Given the description of an element on the screen output the (x, y) to click on. 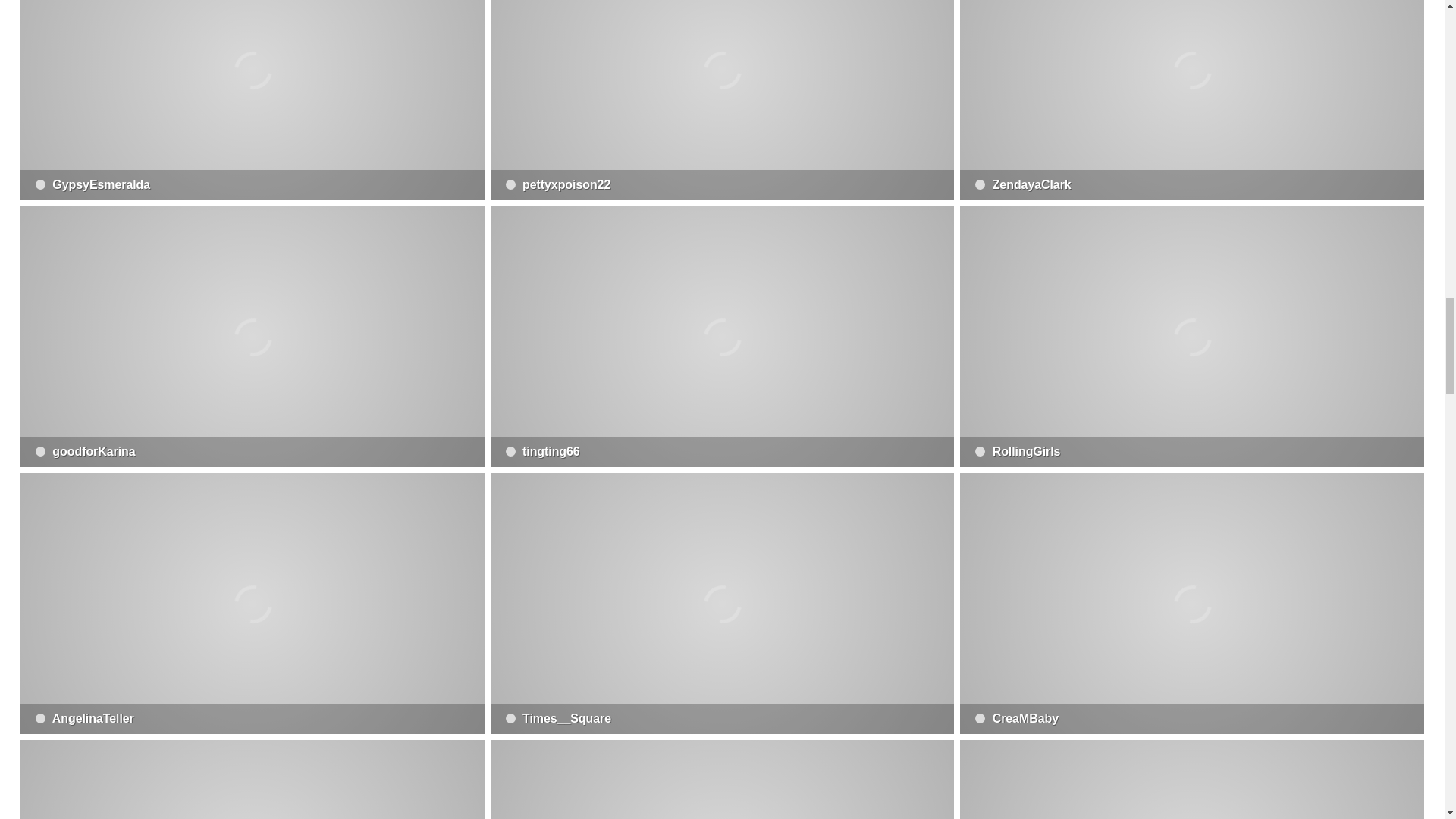
AngelinaTeller (252, 603)
tingting66 (722, 336)
goodforKarina (252, 336)
RollingGirls (1191, 336)
ZendayaClark (1191, 99)
Abby-26 (252, 779)
CreaMBaby (1191, 603)
GoodGirlAsia (1191, 779)
GypsyEsmeralda (252, 99)
pettyxpoison22 (722, 99)
